Given the description of an element on the screen output the (x, y) to click on. 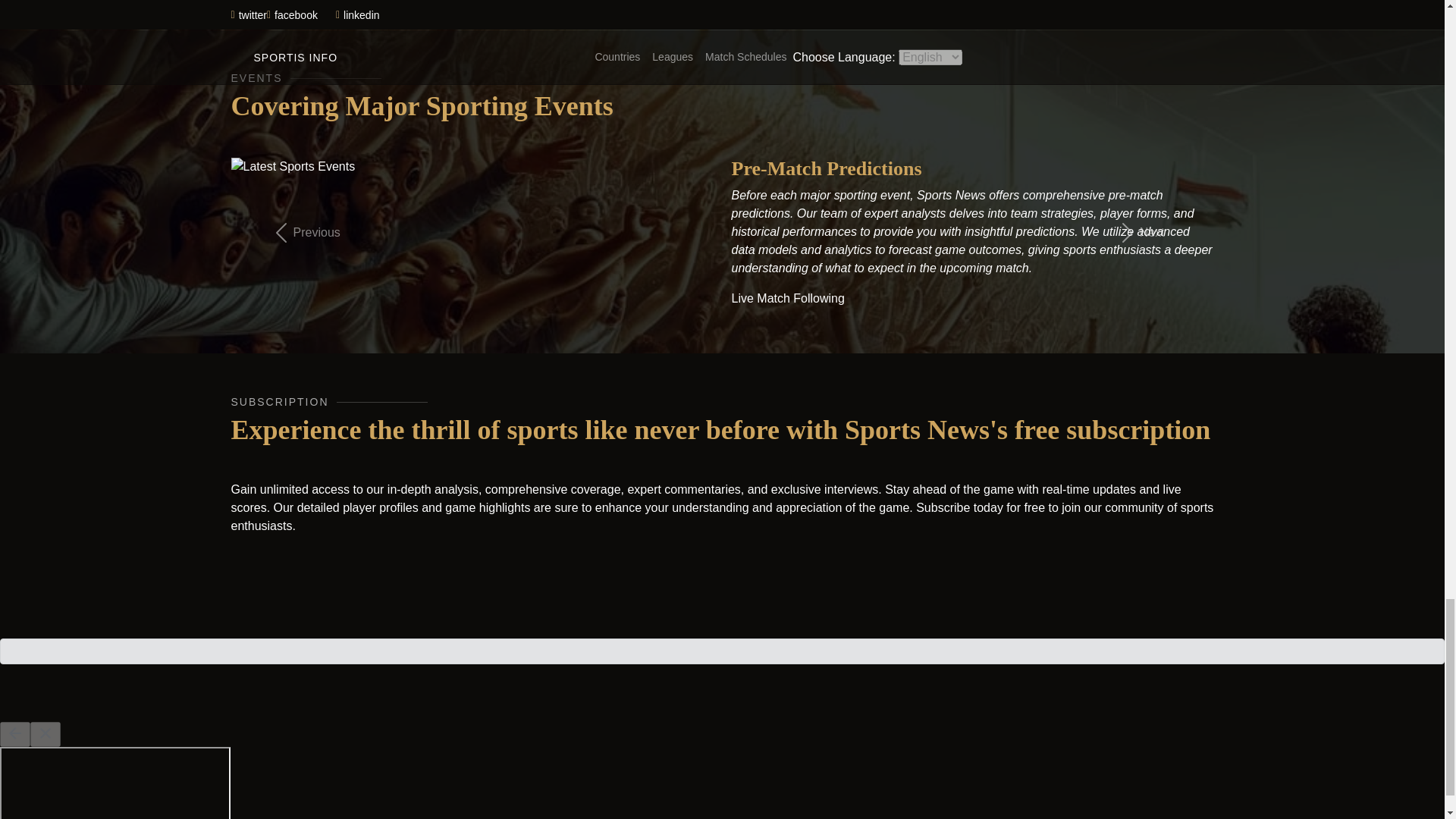
Next (1138, 232)
Previous (303, 232)
